Given the description of an element on the screen output the (x, y) to click on. 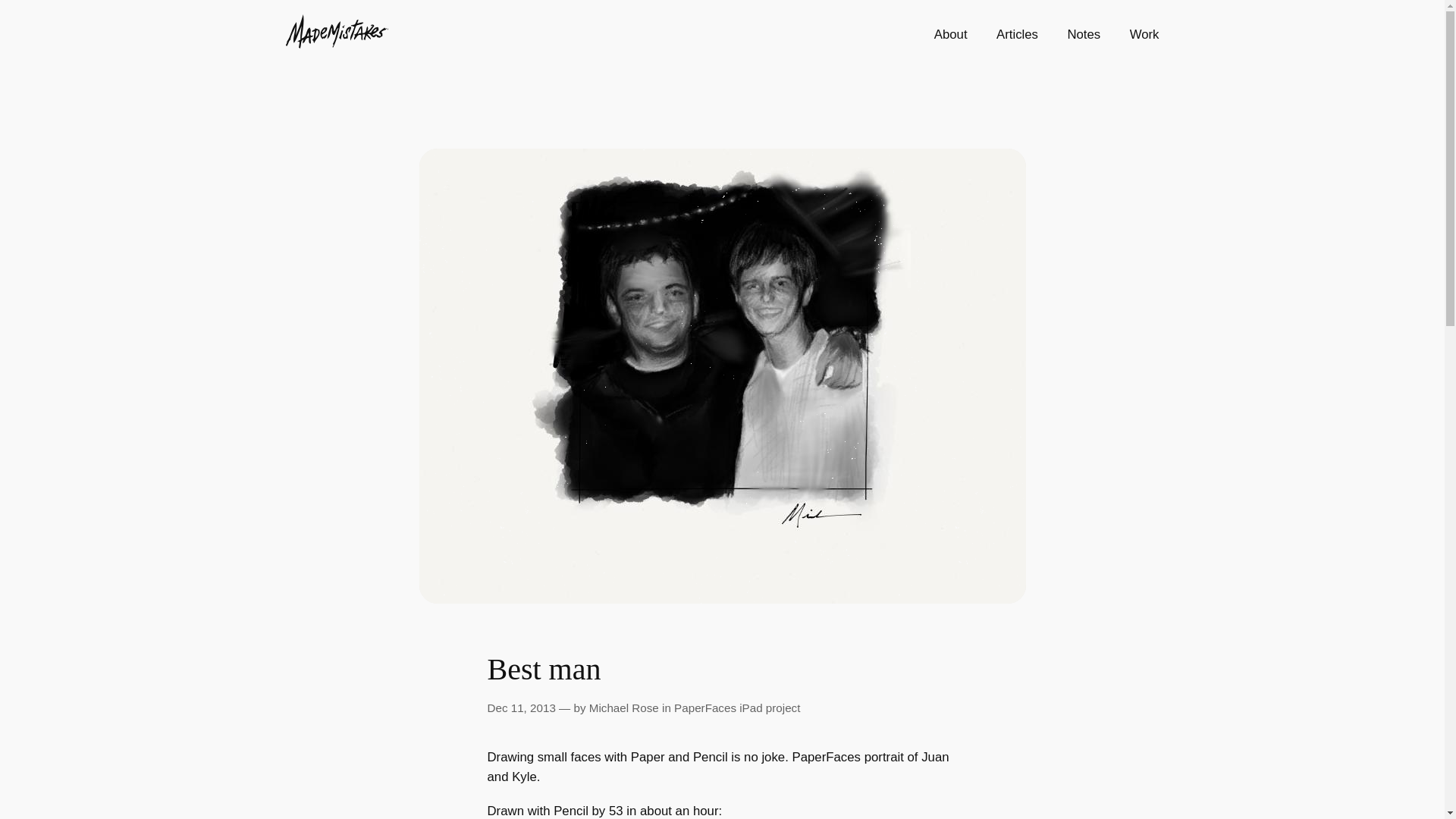
Dec 11, 2013 (520, 707)
Made Mistakes (336, 43)
Notes (1083, 35)
Articles (1016, 35)
Work (1143, 35)
Michael Rose (624, 707)
PaperFaces iPad project (736, 707)
About (951, 35)
